Given the description of an element on the screen output the (x, y) to click on. 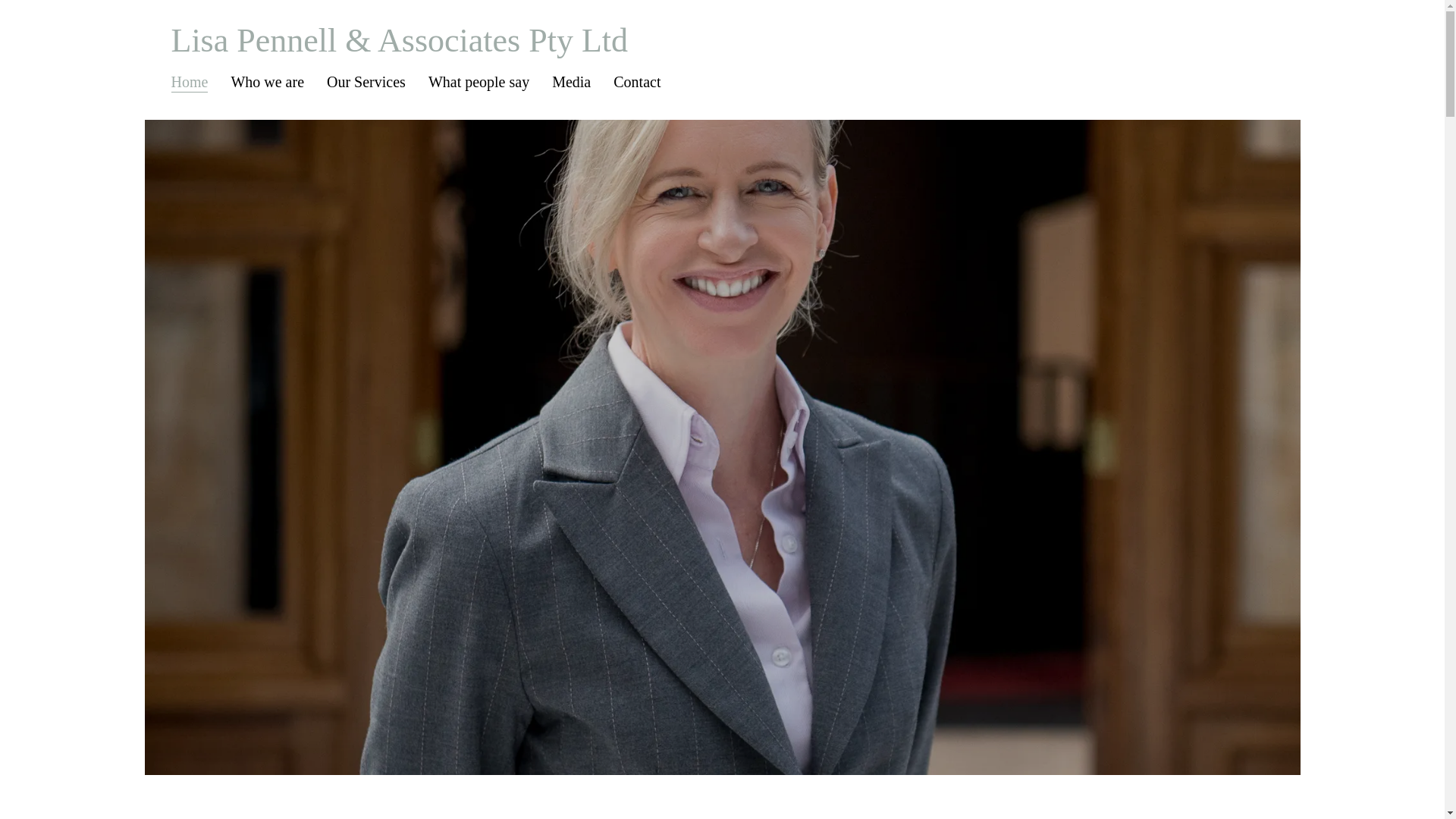
Who we are (267, 81)
Home (189, 81)
Our Services (366, 81)
What people say (478, 81)
Media (571, 81)
Contact (636, 81)
